Given the description of an element on the screen output the (x, y) to click on. 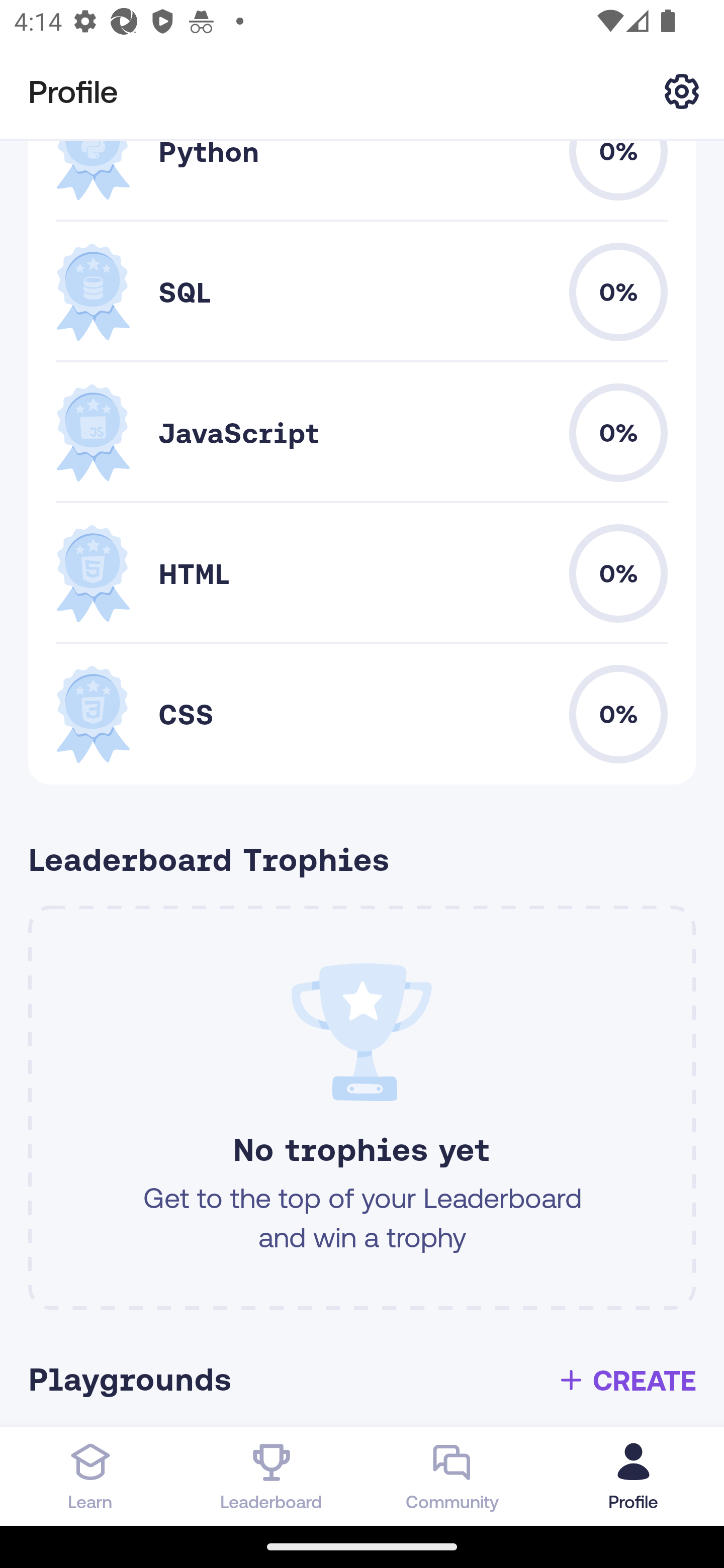
Settings (681, 90)
Python 0.0 0% (361, 181)
SQL 0.0 0% (361, 291)
JavaScript 0.0 0% (361, 432)
HTML 0.0 0% (361, 573)
CSS 0.0 0% (361, 714)
Playgrounds CREATE (369, 1379)
CREATE (626, 1379)
Learn (90, 1475)
Leaderboard (271, 1475)
Community (452, 1475)
